Given the description of an element on the screen output the (x, y) to click on. 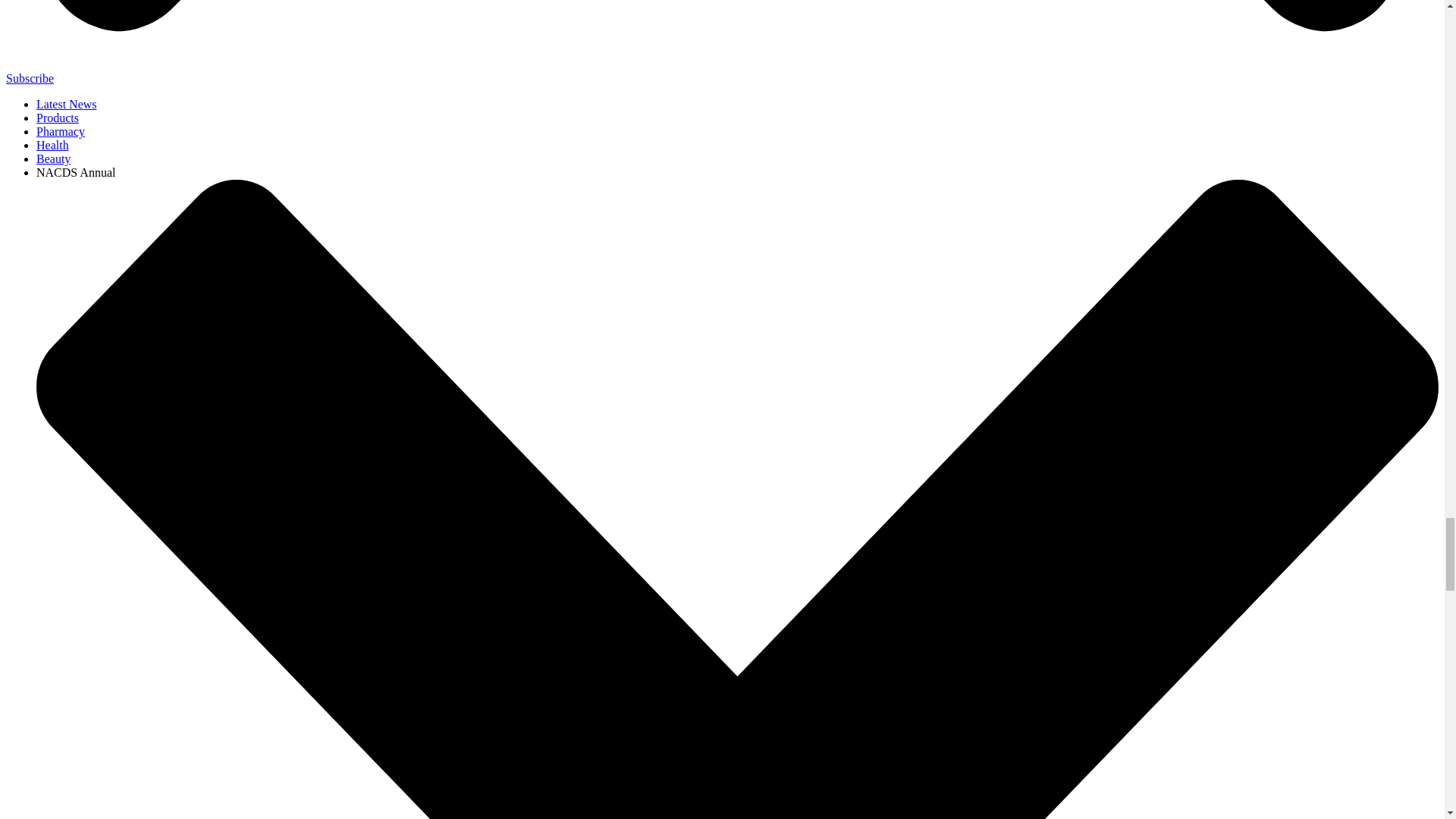
Products (57, 117)
Beauty (52, 158)
Pharmacy (60, 131)
NACDS Annual (75, 172)
Subscribe (29, 78)
Latest News (66, 103)
Health (52, 144)
